Given the description of an element on the screen output the (x, y) to click on. 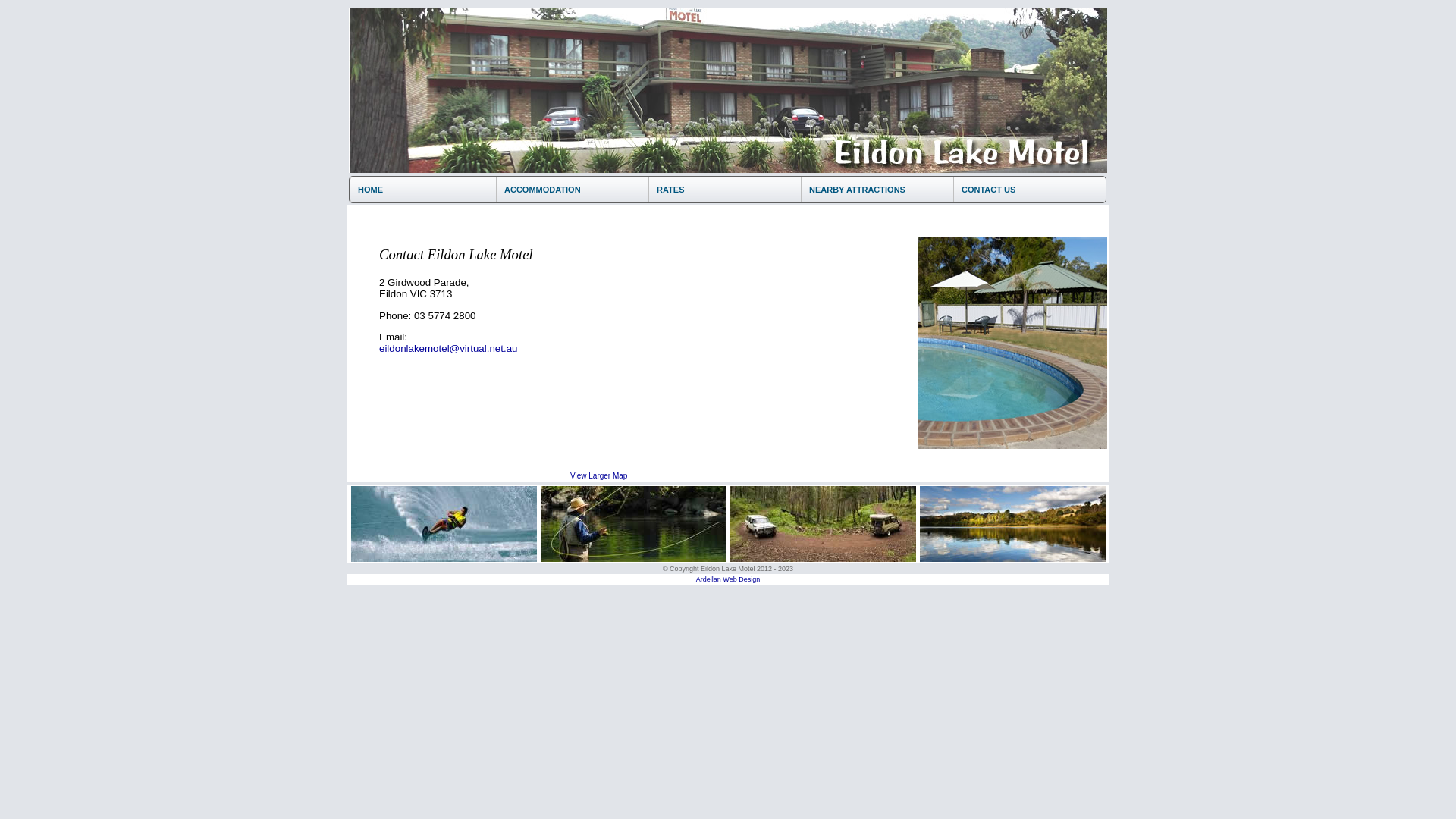
Ardellan Web Design Element type: text (727, 579)
ACCOMMODATION Element type: text (571, 189)
eildonlakemotel@virtual.net.au Element type: text (448, 348)
RATES Element type: text (724, 189)
NEARBY ATTRACTIONS Element type: text (876, 189)
CONTACT US Element type: text (1029, 189)
View Larger Map Element type: text (598, 475)
HOME Element type: text (422, 189)
